Given the description of an element on the screen output the (x, y) to click on. 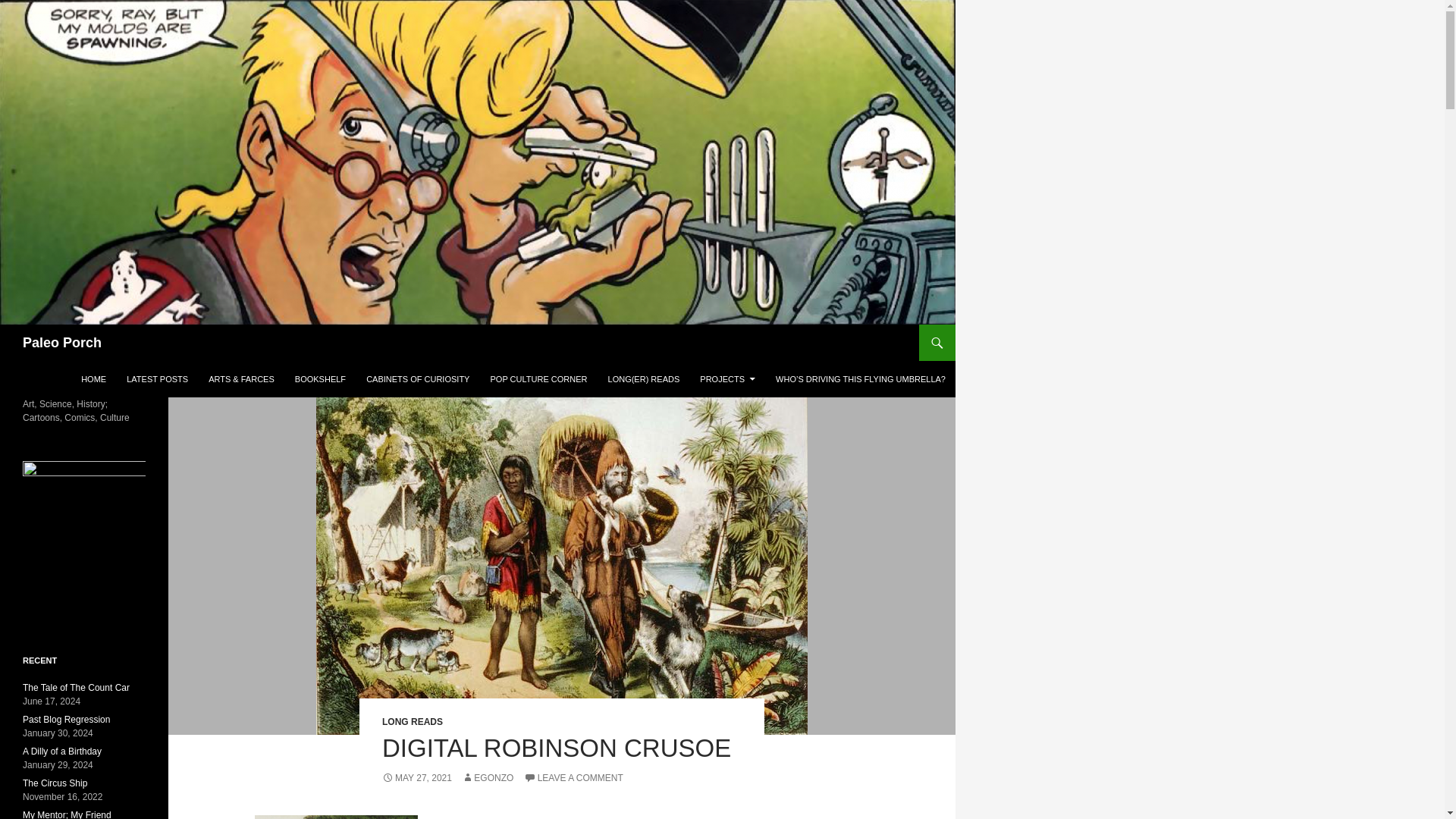
BOOKSHELF (320, 379)
HOME (93, 379)
LATEST POSTS (156, 379)
The Circus Ship (55, 783)
LEAVE A COMMENT (573, 777)
MAY 27, 2021 (416, 777)
The Tale of The Count Car (76, 687)
POP CULTURE CORNER (537, 379)
PROJECTS (727, 379)
CABINETS OF CURIOSITY (417, 379)
A Dilly of a Birthday (62, 751)
Paleo Porch (62, 342)
My Mentor; My Friend (67, 814)
